Given the description of an element on the screen output the (x, y) to click on. 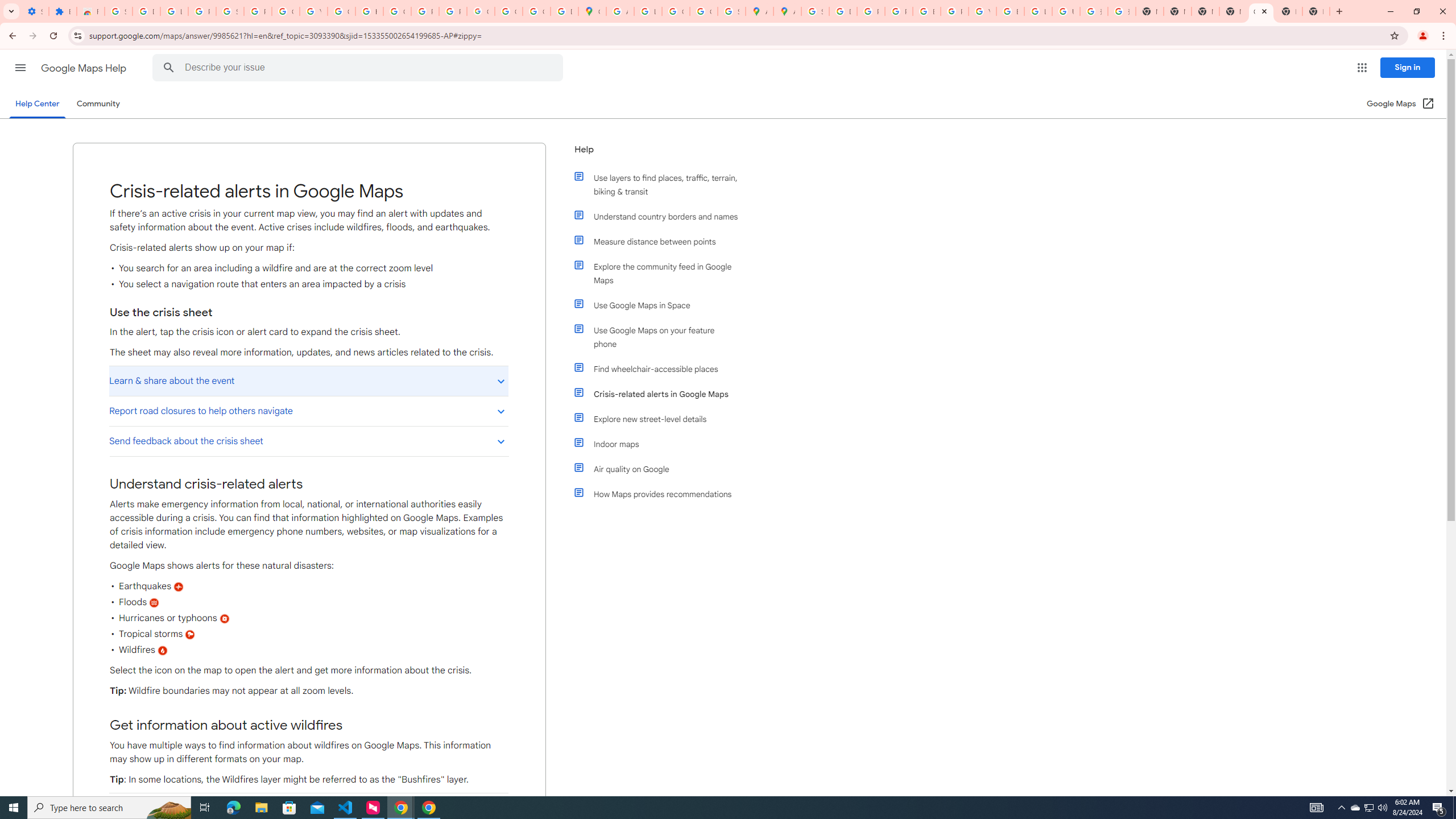
Create your Google Account (675, 11)
Crisis-related alerts in Google Maps - Google Maps Help (1260, 11)
Send feedback about the crisis sheet (308, 440)
New Tab (1233, 11)
